Given the description of an element on the screen output the (x, y) to click on. 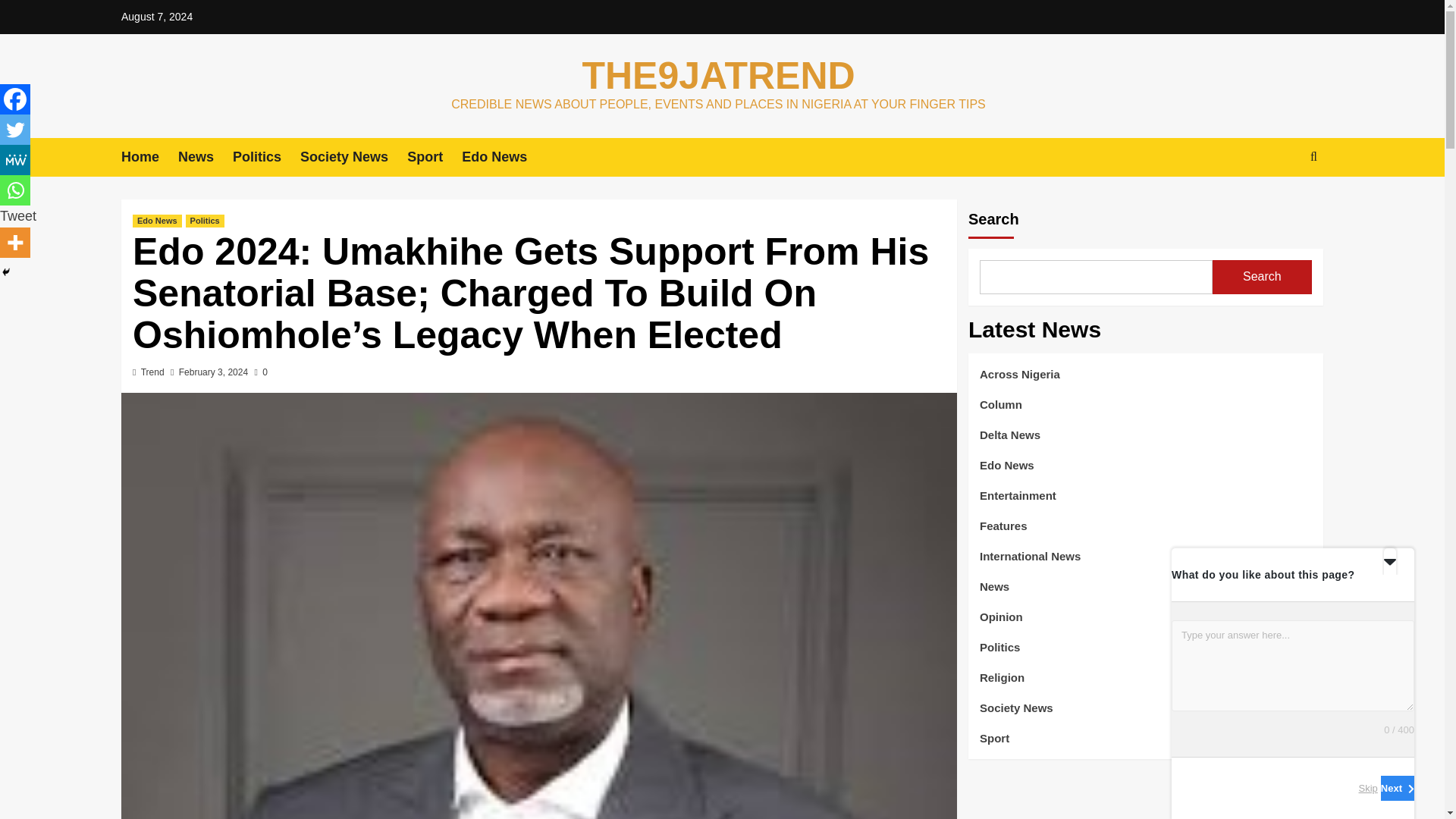
Politics (205, 220)
0 (259, 371)
Twitter (15, 129)
Facebook (15, 99)
Sport (434, 157)
Edo News (157, 220)
Politics (265, 157)
Home (148, 157)
Tweet (18, 215)
News (204, 157)
